Given the description of an element on the screen output the (x, y) to click on. 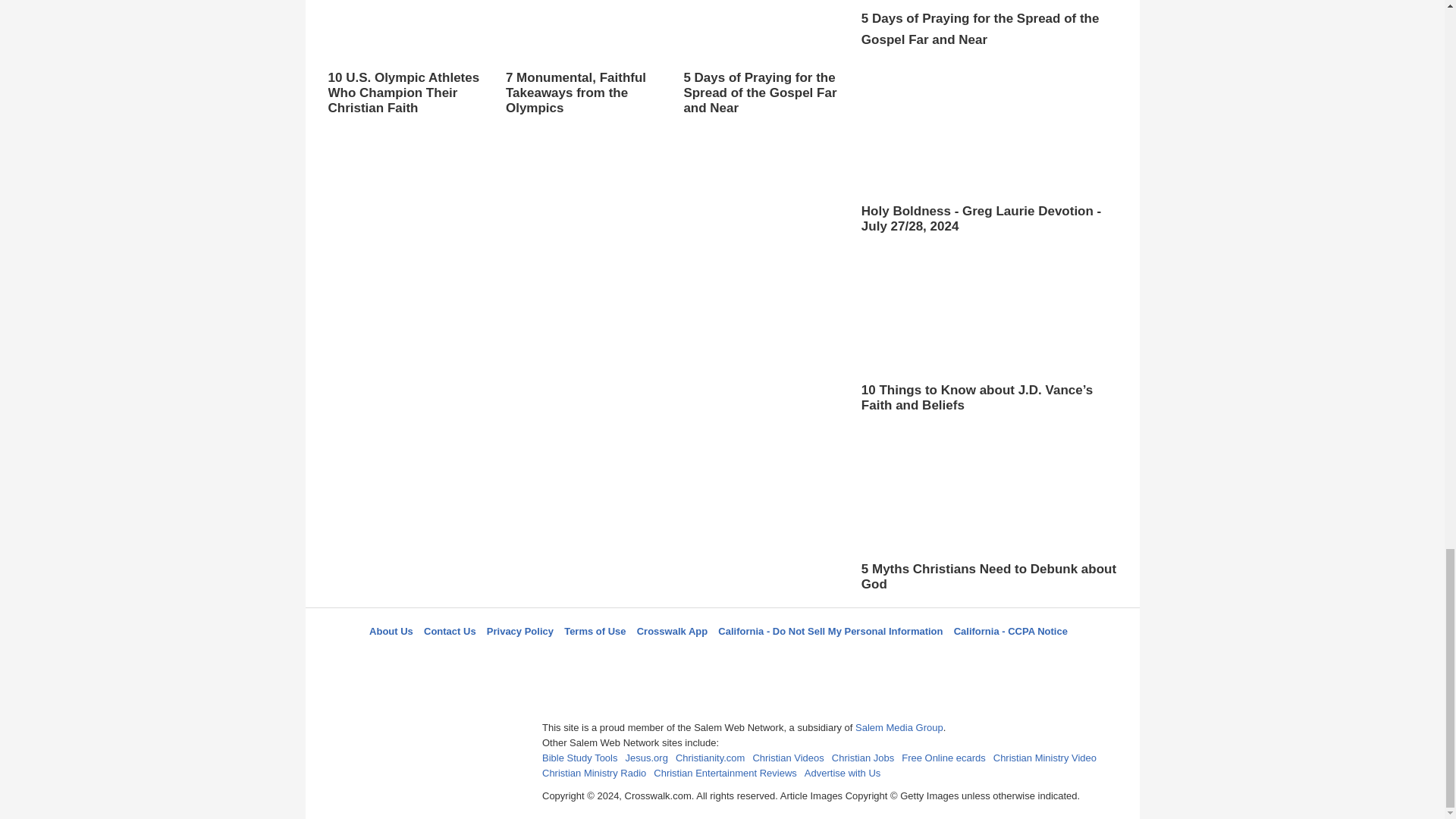
Pinterest (757, 658)
5 Days of Praying for the Spread of the Gospel Far and Near (760, 72)
7 Monumental, Faithful Takeaways from the Olympics (583, 58)
YouTube (795, 658)
LifeAudio (719, 658)
Facebook (645, 658)
10 U.S. Olympic Athletes Who Champion Their Christian Faith (404, 58)
Twitter (683, 658)
